Given the description of an element on the screen output the (x, y) to click on. 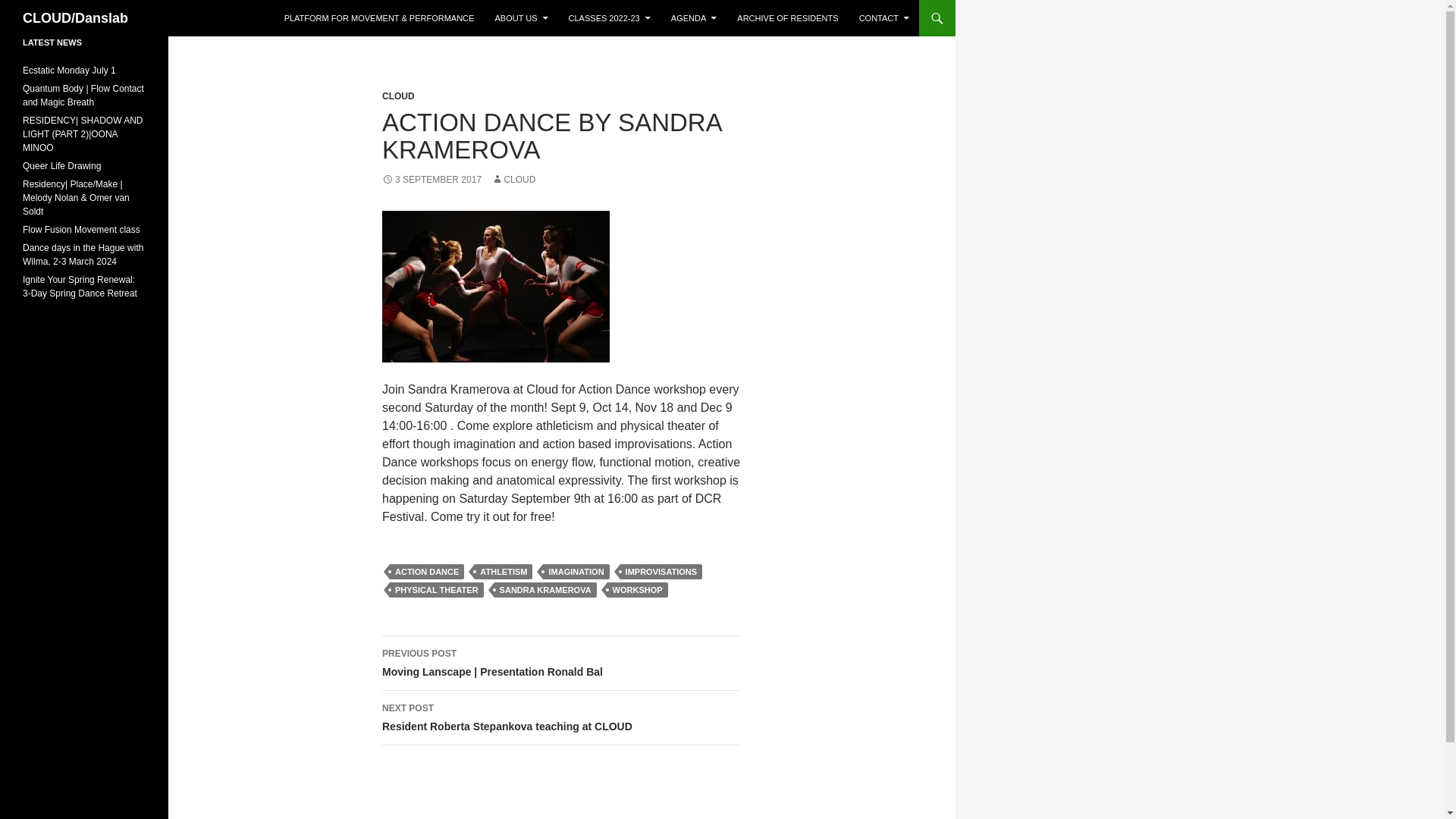
ARCHIVE OF RESIDENTS (787, 18)
CLASSES 2022-23 (609, 18)
CONTACT (884, 18)
AGENDA (693, 18)
ATHLETISM (503, 571)
CLOUD (513, 179)
ACTION DANCE (427, 571)
CLOUD (397, 95)
ABOUT US (520, 18)
3 SEPTEMBER 2017 (431, 179)
